Given the description of an element on the screen output the (x, y) to click on. 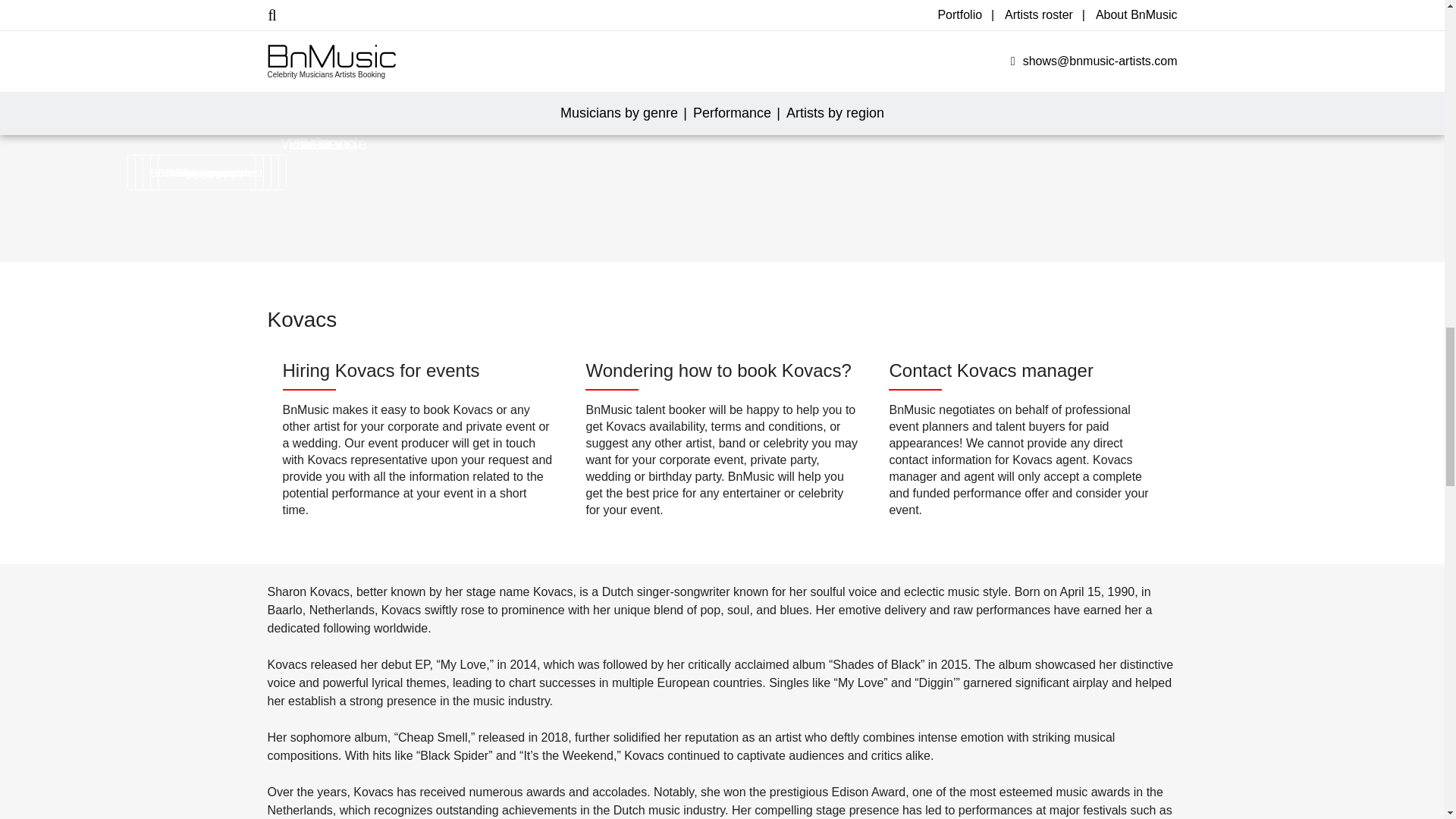
Booking request (214, 172)
Booking request (221, 172)
Booking request (192, 172)
Booking request (199, 172)
Booking request (206, 172)
